Given the description of an element on the screen output the (x, y) to click on. 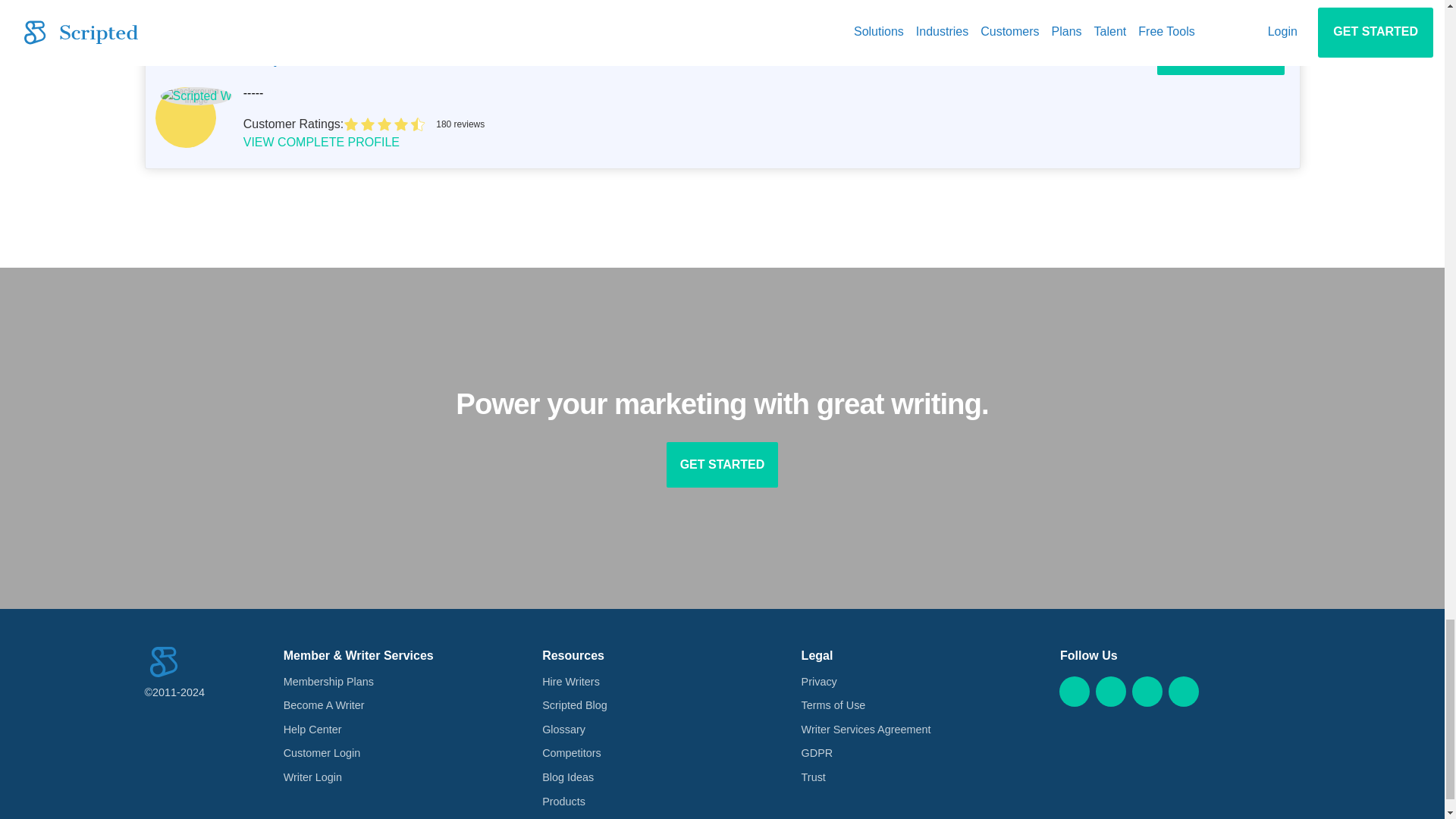
4.8 Average Rating (813, 124)
